Given the description of an element on the screen output the (x, y) to click on. 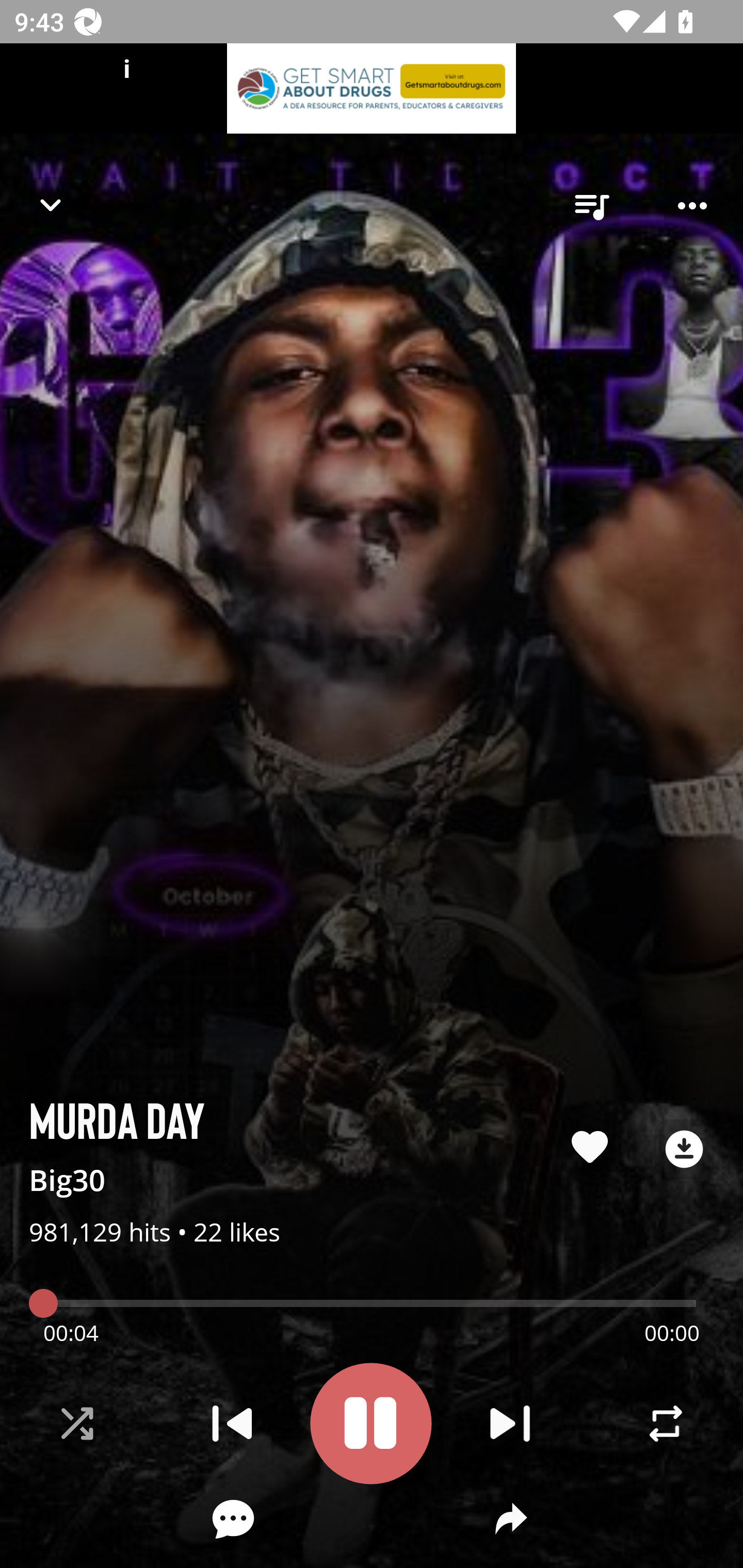
Navigate up (50, 205)
queue (590, 206)
Player options (692, 206)
